Given the description of an element on the screen output the (x, y) to click on. 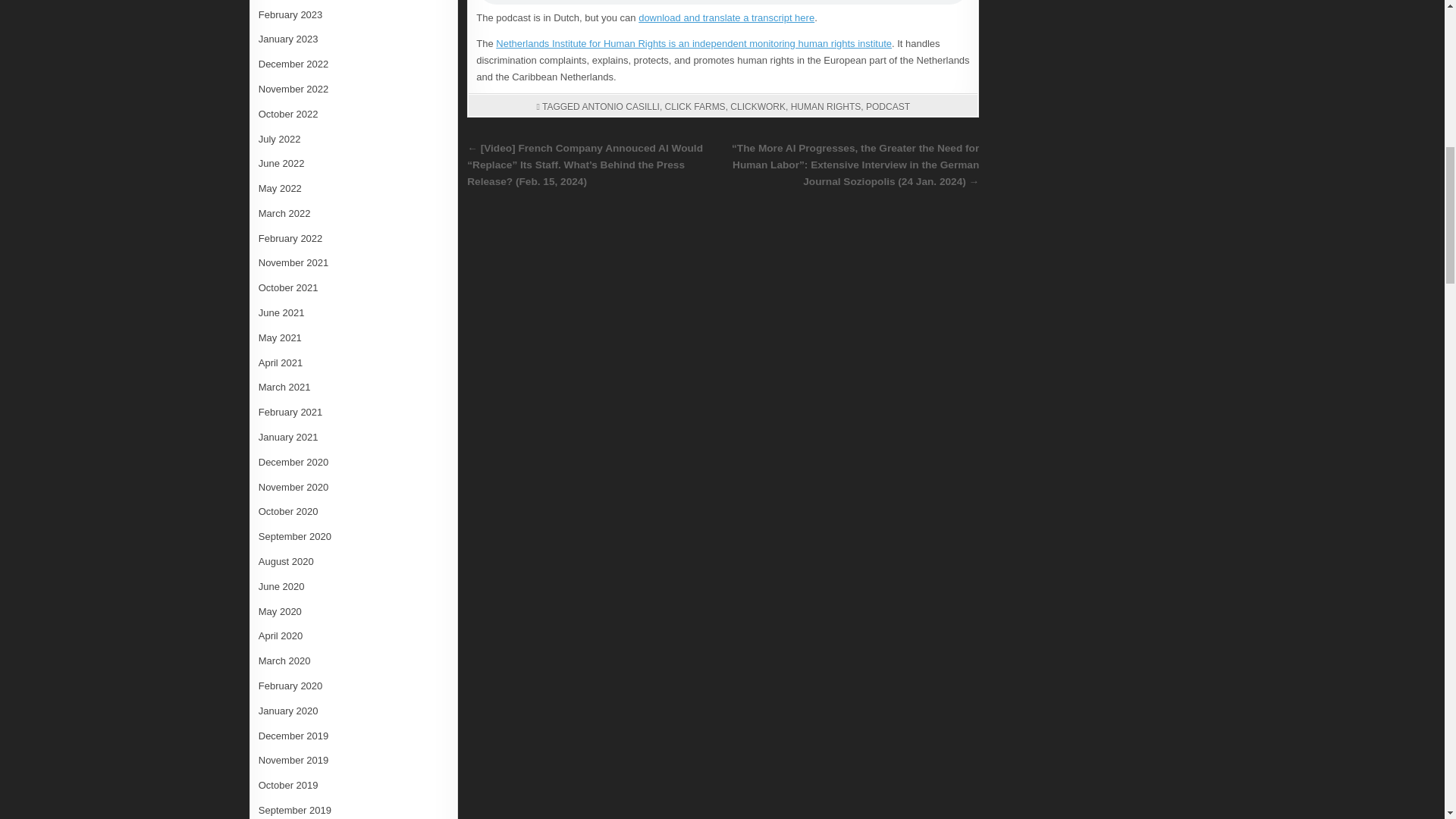
December 2022 (294, 63)
January 2023 (288, 39)
February 2023 (291, 14)
